Given the description of an element on the screen output the (x, y) to click on. 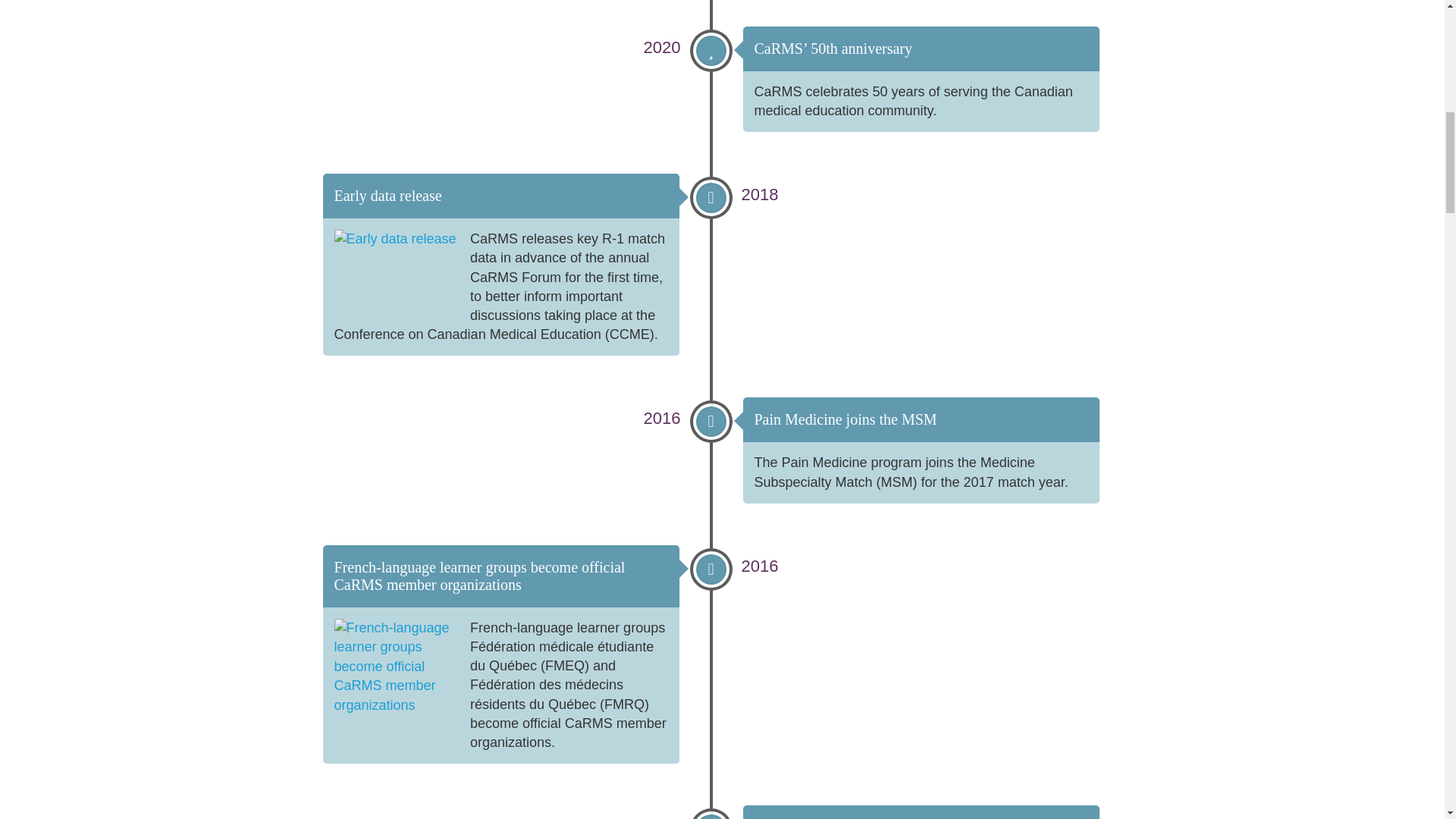
Early data release (387, 195)
Pain Medicine joins the MSM (845, 419)
Early data release (387, 195)
Early data release (395, 271)
